Given the description of an element on the screen output the (x, y) to click on. 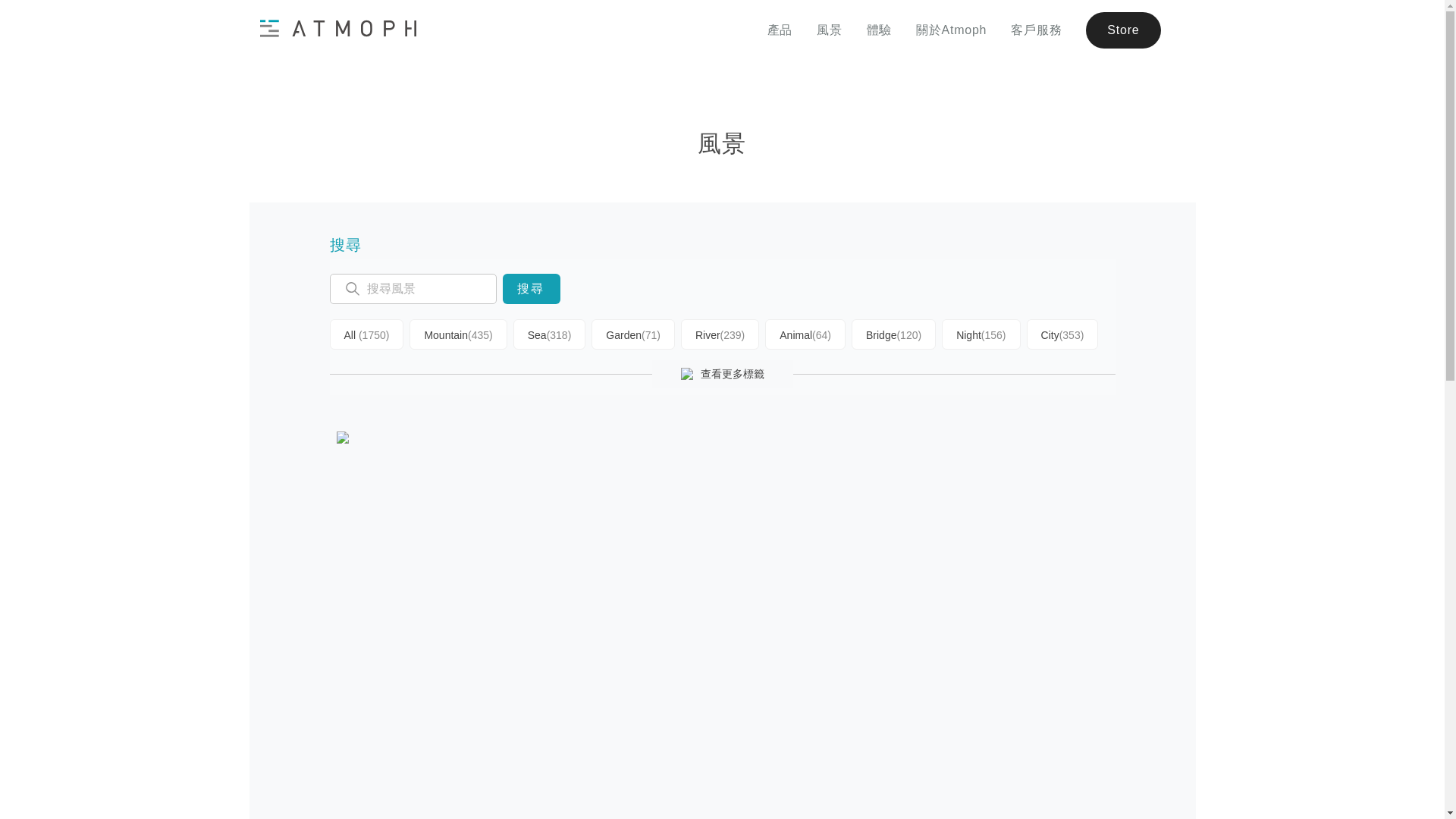
Store (1123, 30)
